Given the description of an element on the screen output the (x, y) to click on. 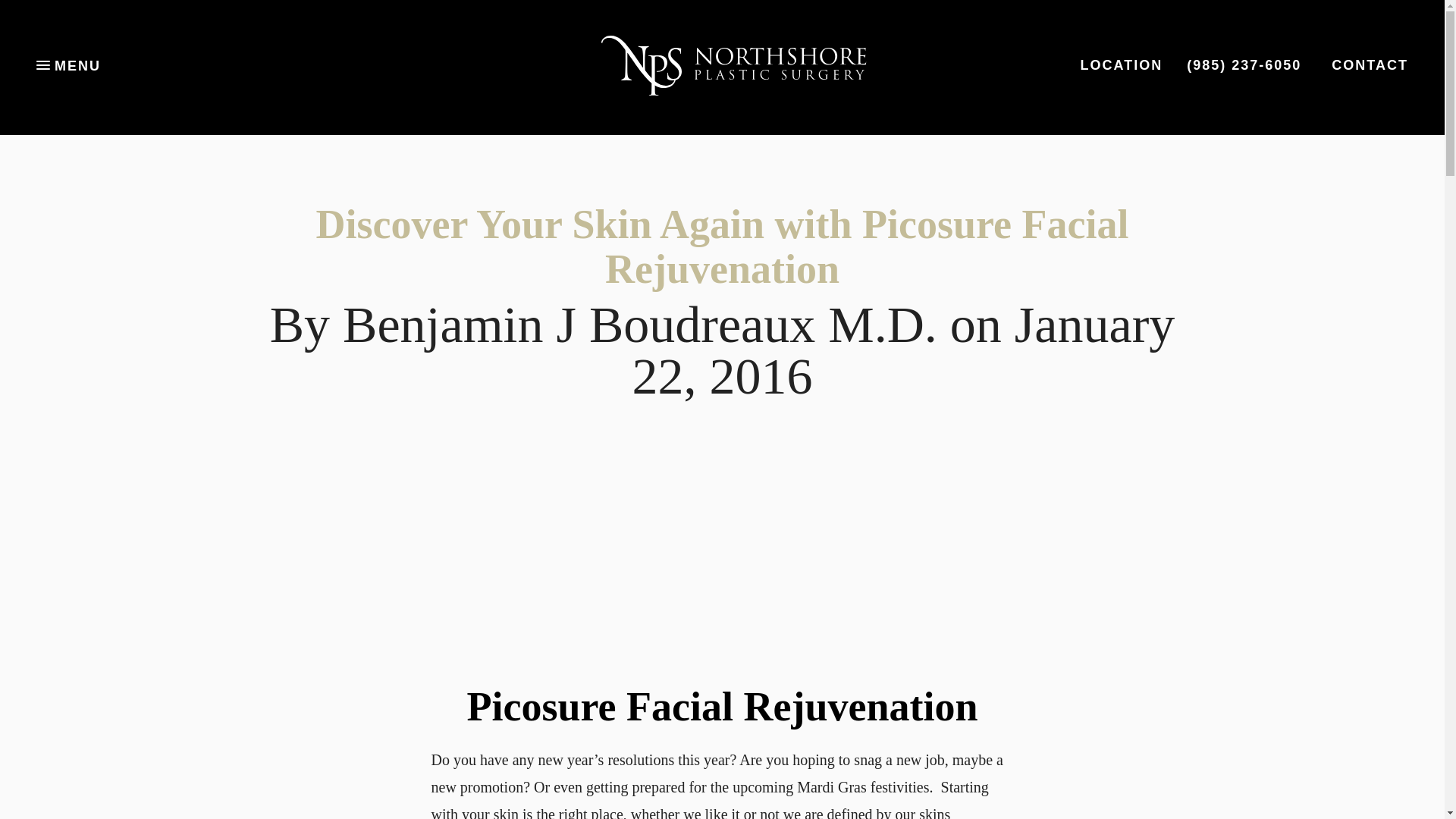
LOCATION (1121, 65)
CONTACT (1369, 65)
MENU (68, 65)
